Given the description of an element on the screen output the (x, y) to click on. 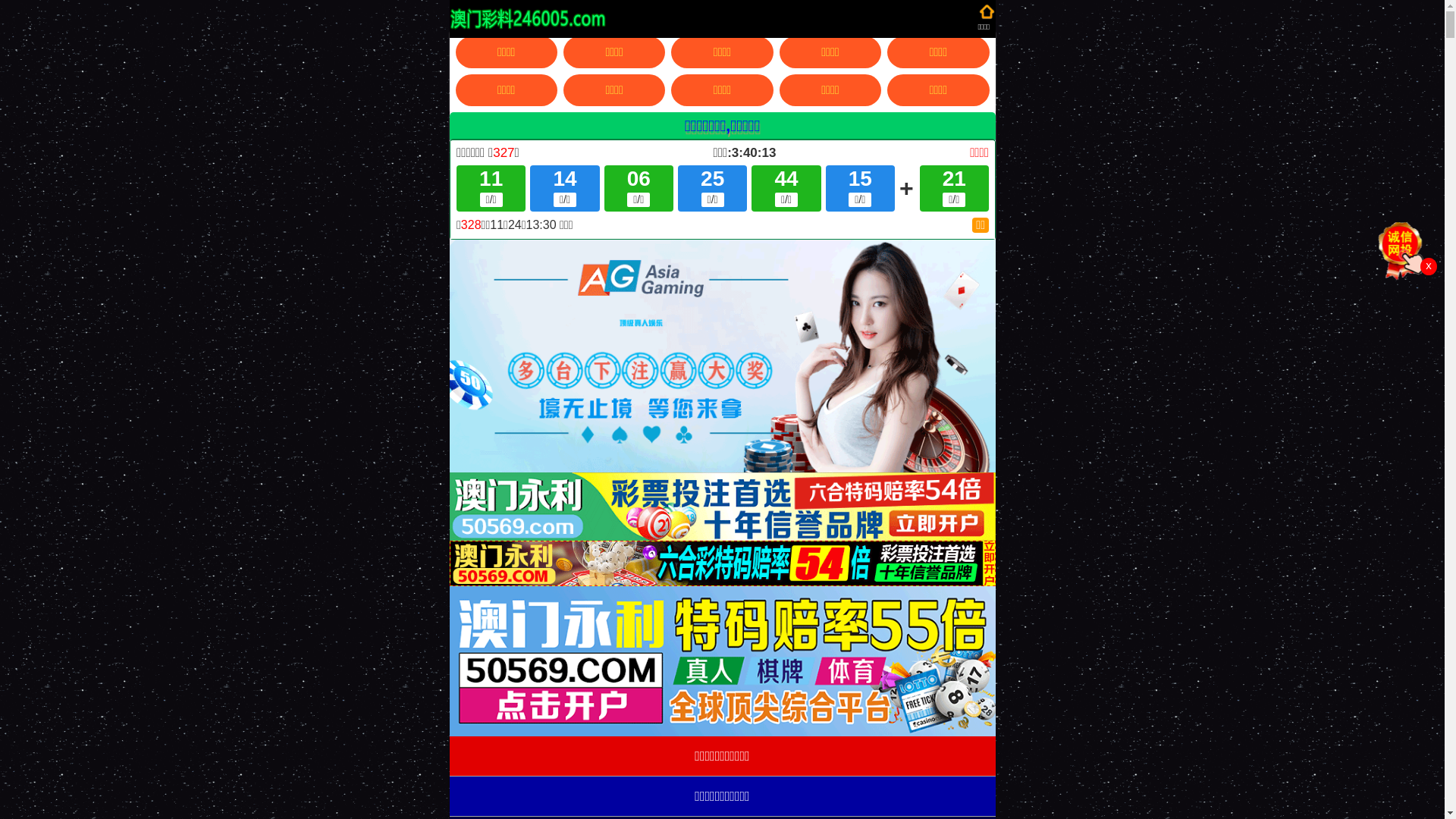
x Element type: text (1428, 266)
